Given the description of an element on the screen output the (x, y) to click on. 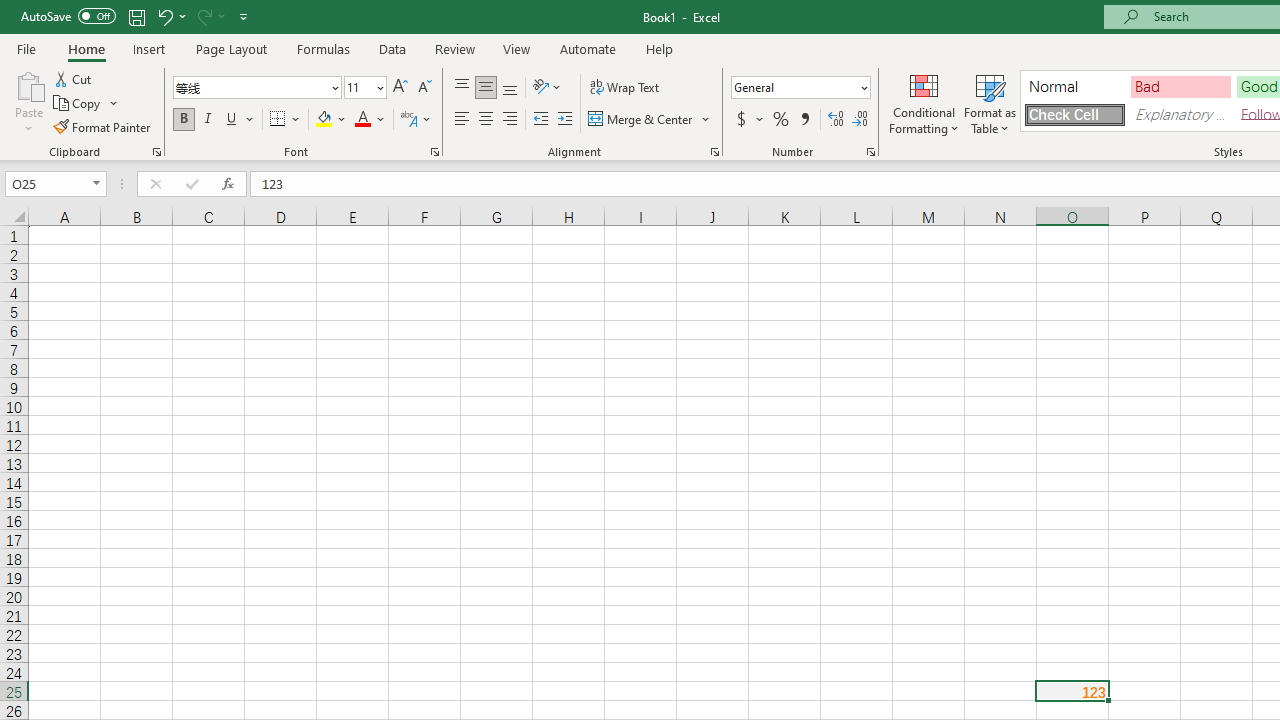
Office Clipboard... (156, 151)
Format Painter (103, 126)
Bad (1180, 86)
Align Left (461, 119)
Font Color RGB(255, 0, 0) (362, 119)
Format Cell Alignment (714, 151)
Decrease Decimal (859, 119)
Paste (28, 84)
